Given the description of an element on the screen output the (x, y) to click on. 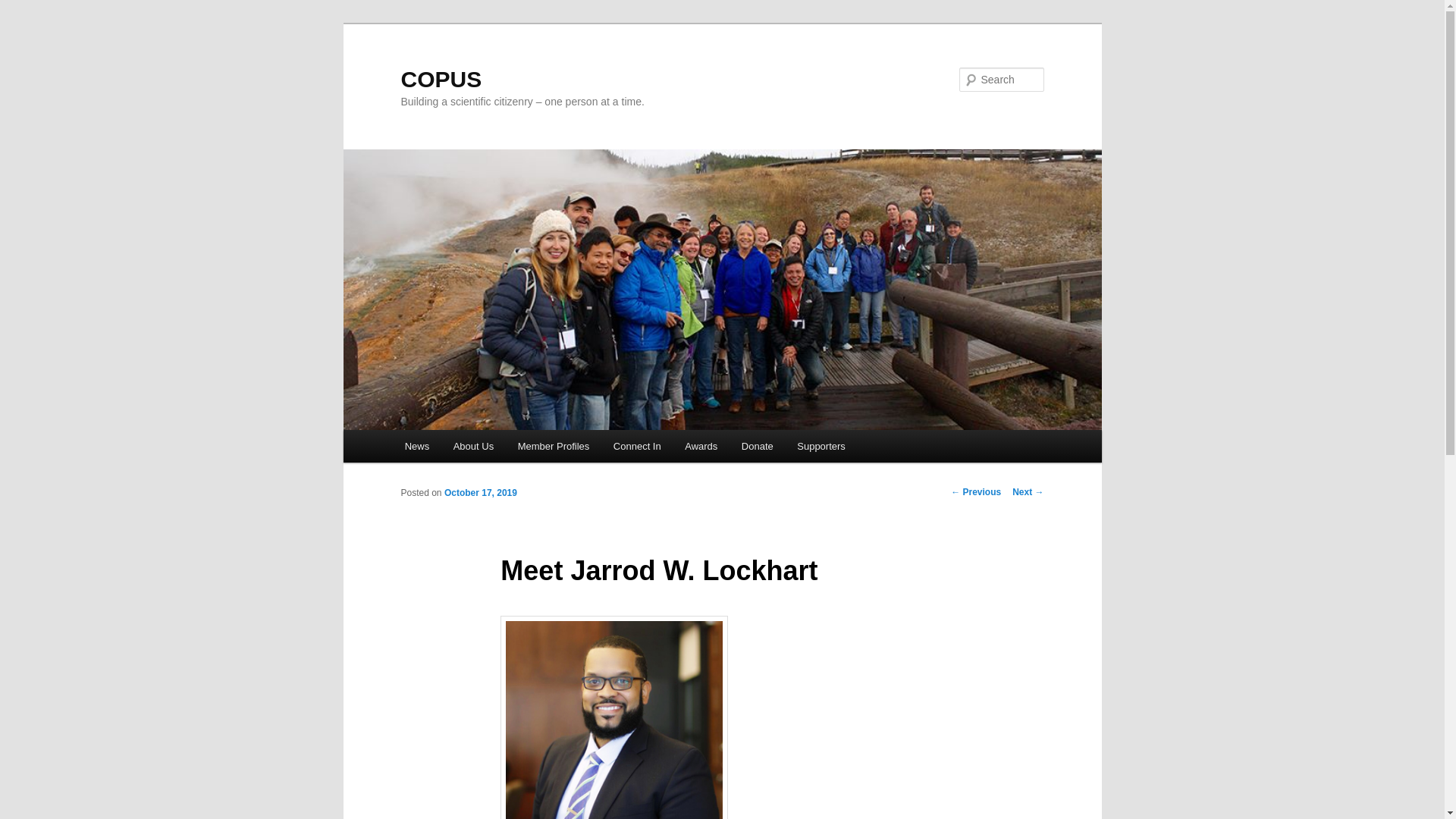
1:51 am (480, 492)
Donate (756, 445)
Awards (700, 445)
Supporters (821, 445)
Search (24, 8)
October 17, 2019 (480, 492)
About Us (473, 445)
Member Profiles (553, 445)
News (417, 445)
